Given the description of an element on the screen output the (x, y) to click on. 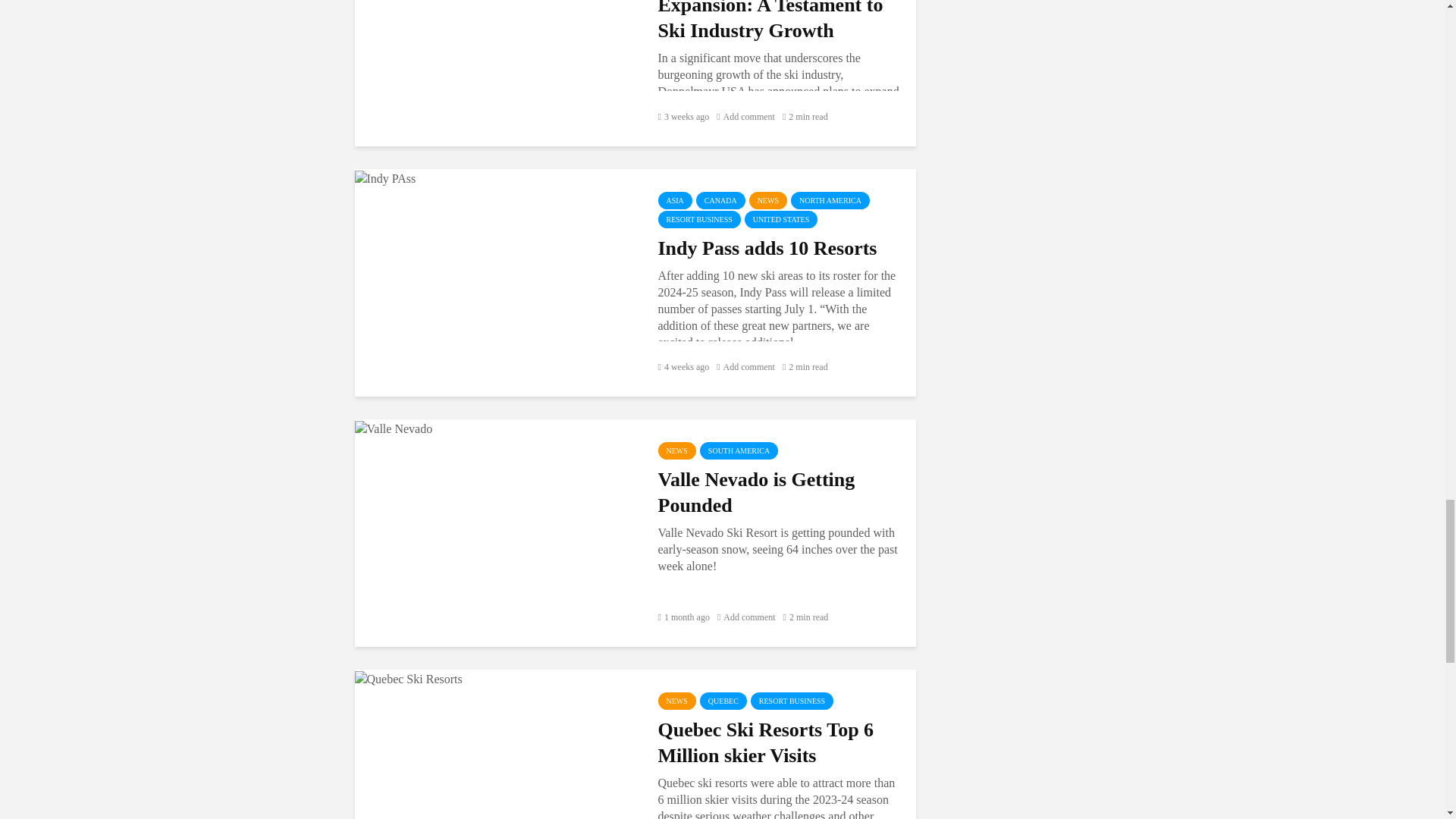
Indy Pass adds 10 Resorts (385, 176)
Valle Nevado is Getting Pounded (393, 427)
Quebec Ski Resorts Top 6 Million skier Visits (409, 676)
